Given the description of an element on the screen output the (x, y) to click on. 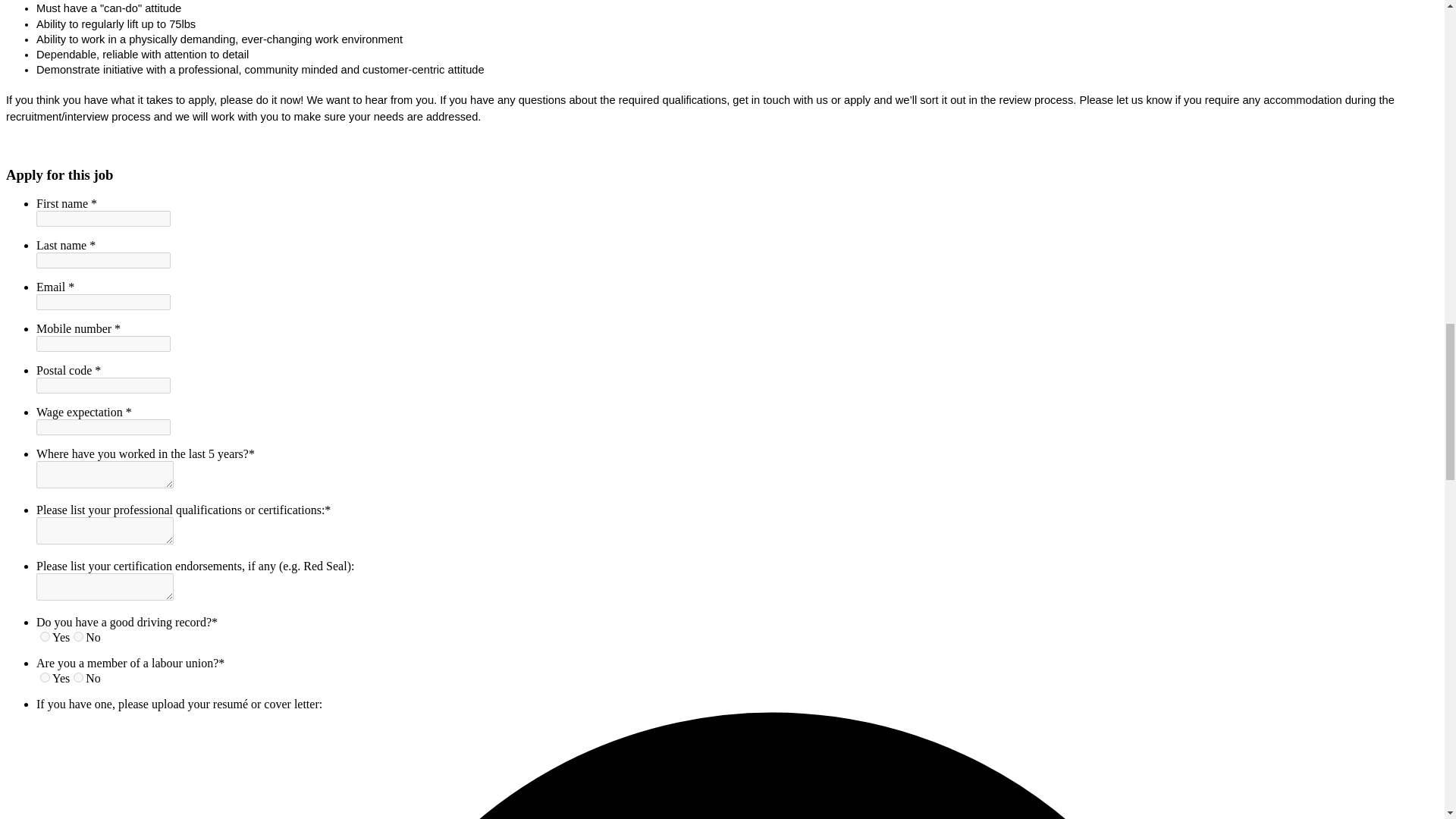
Yes (44, 636)
No (78, 677)
No (78, 636)
Yes (44, 677)
